Given the description of an element on the screen output the (x, y) to click on. 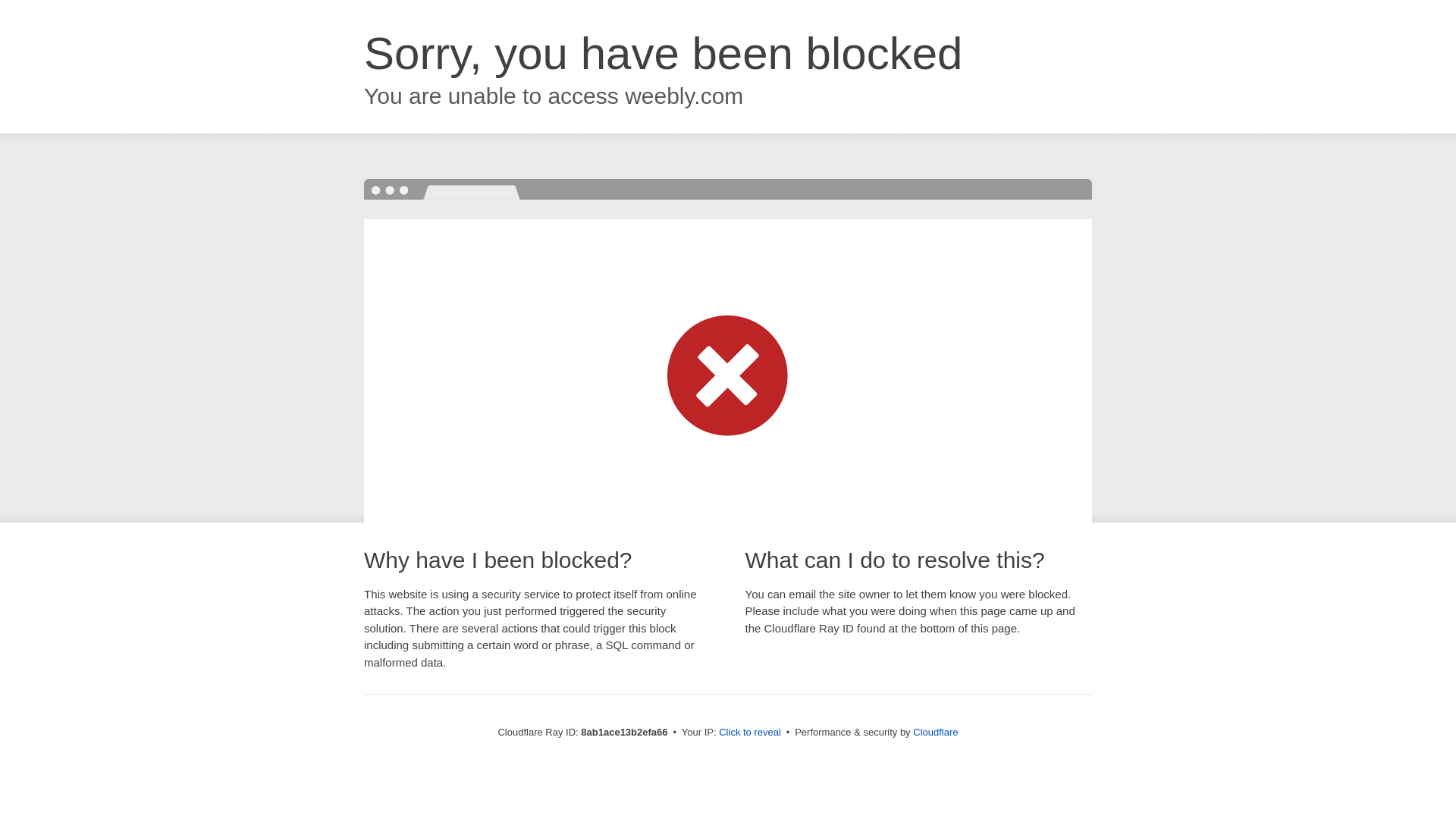
Click to reveal (749, 732)
Cloudflare (935, 731)
